Given the description of an element on the screen output the (x, y) to click on. 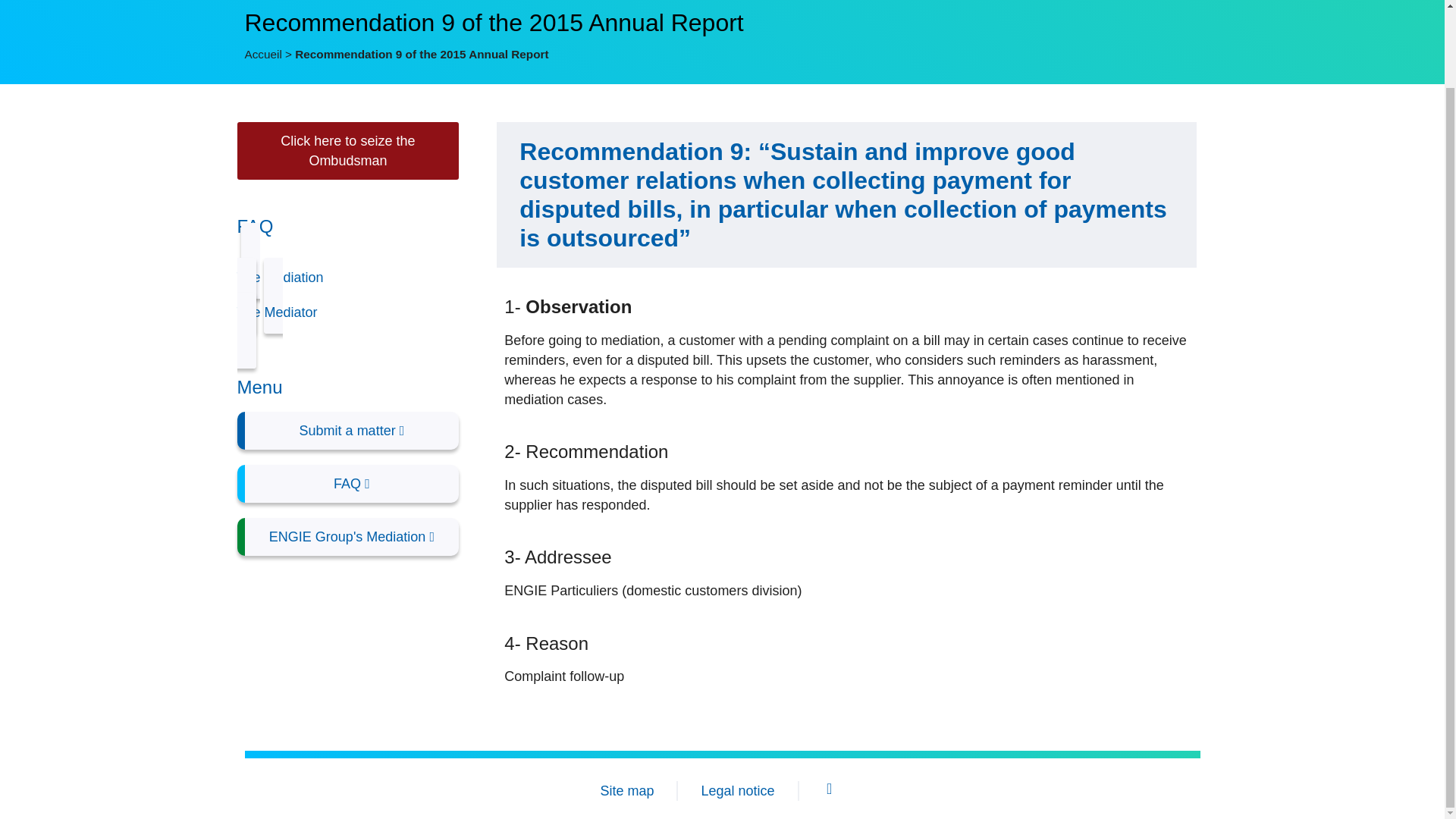
Click here to seize the Ombudsman (346, 150)
The Mediator (346, 312)
ENGIE Group's Mediation (346, 536)
Submit a matter (346, 430)
Site map (626, 790)
The Mediation (346, 277)
Accueil (262, 53)
FAQ (346, 483)
Legal notice (737, 790)
